Given the description of an element on the screen output the (x, y) to click on. 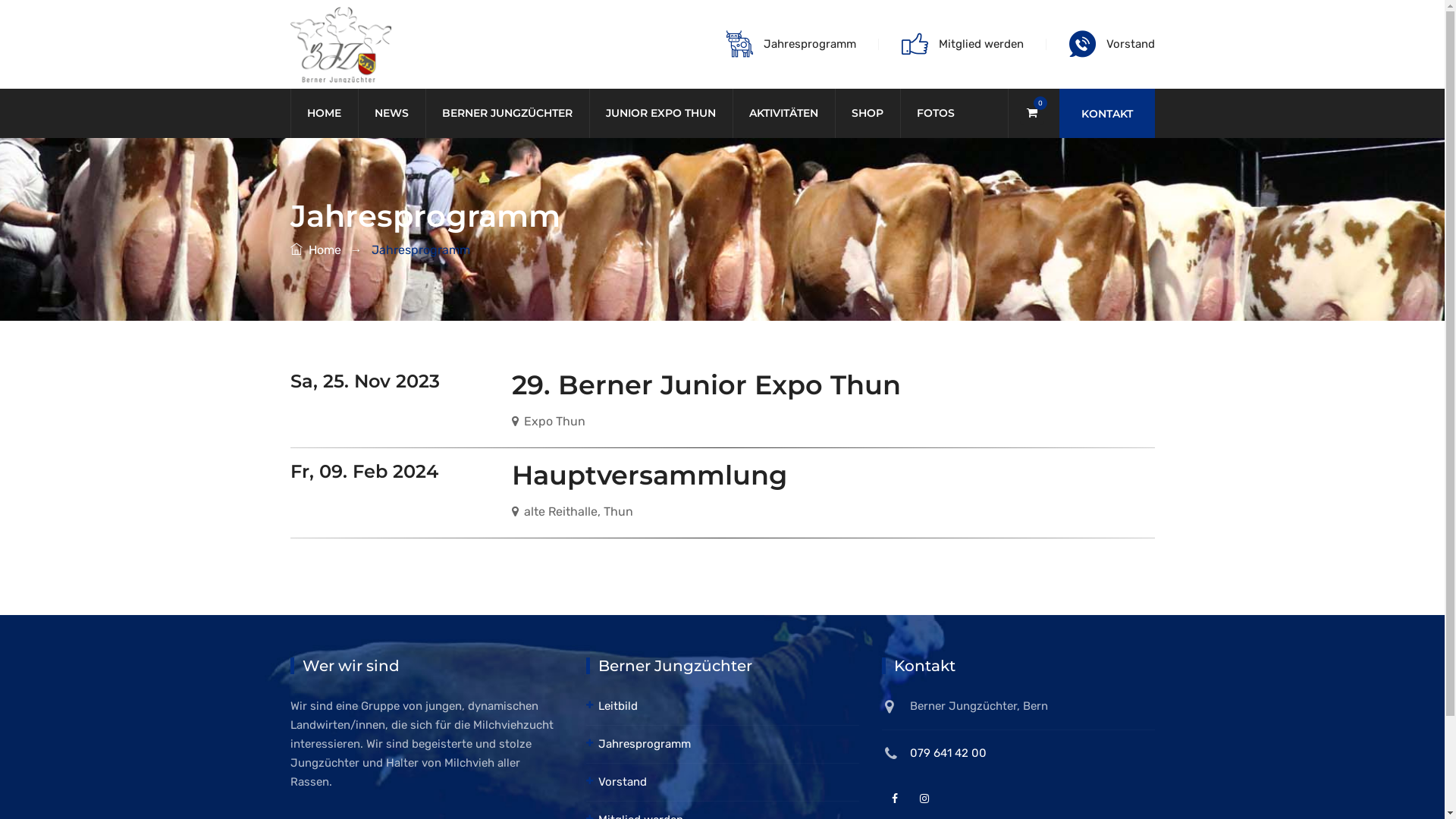
Jahresprogramm Element type: text (637, 743)
KONTAKT Element type: text (1106, 113)
SHOP Element type: text (866, 113)
Mitglied werden Element type: text (980, 43)
079 641 42 00 Element type: text (948, 752)
HOME Element type: text (323, 113)
Vorstand Element type: text (1129, 43)
Vorstand Element type: text (615, 781)
FOTOS Element type: text (934, 113)
Leitbild Element type: text (611, 705)
NEWS Element type: text (391, 113)
  Home Element type: text (314, 249)
0 Element type: text (1031, 112)
Jahresprogramm Element type: text (808, 43)
JUNIOR EXPO THUN Element type: text (659, 113)
